Given the description of an element on the screen output the (x, y) to click on. 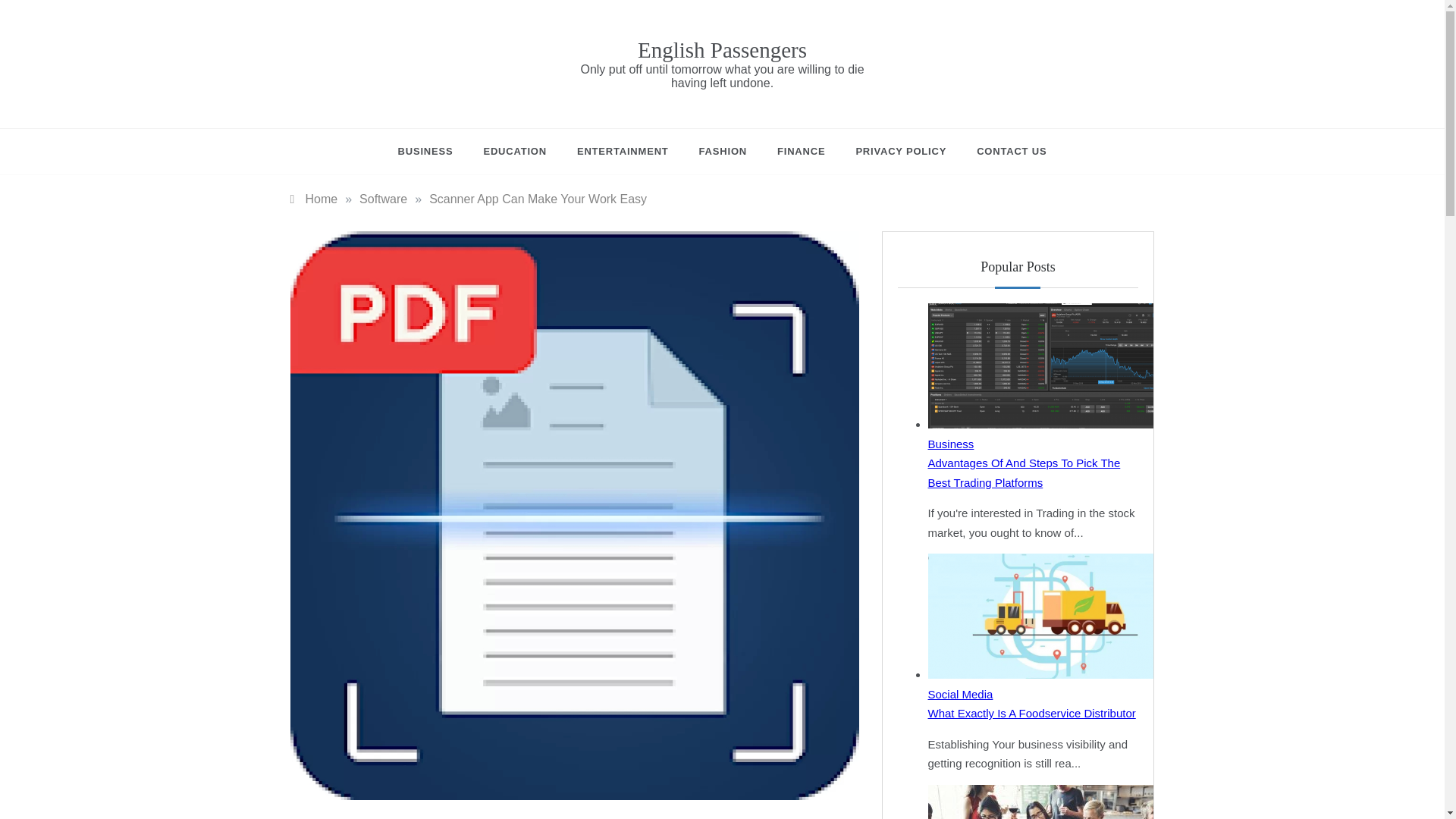
EDUCATION (514, 151)
Scanner App Can Make Your Work Easy (537, 198)
English Passengers (721, 49)
Home (313, 198)
Software (324, 818)
FASHION (722, 151)
CONTACT US (1003, 151)
BUSINESS (432, 151)
FINANCE (800, 151)
Software (383, 198)
